Given the description of an element on the screen output the (x, y) to click on. 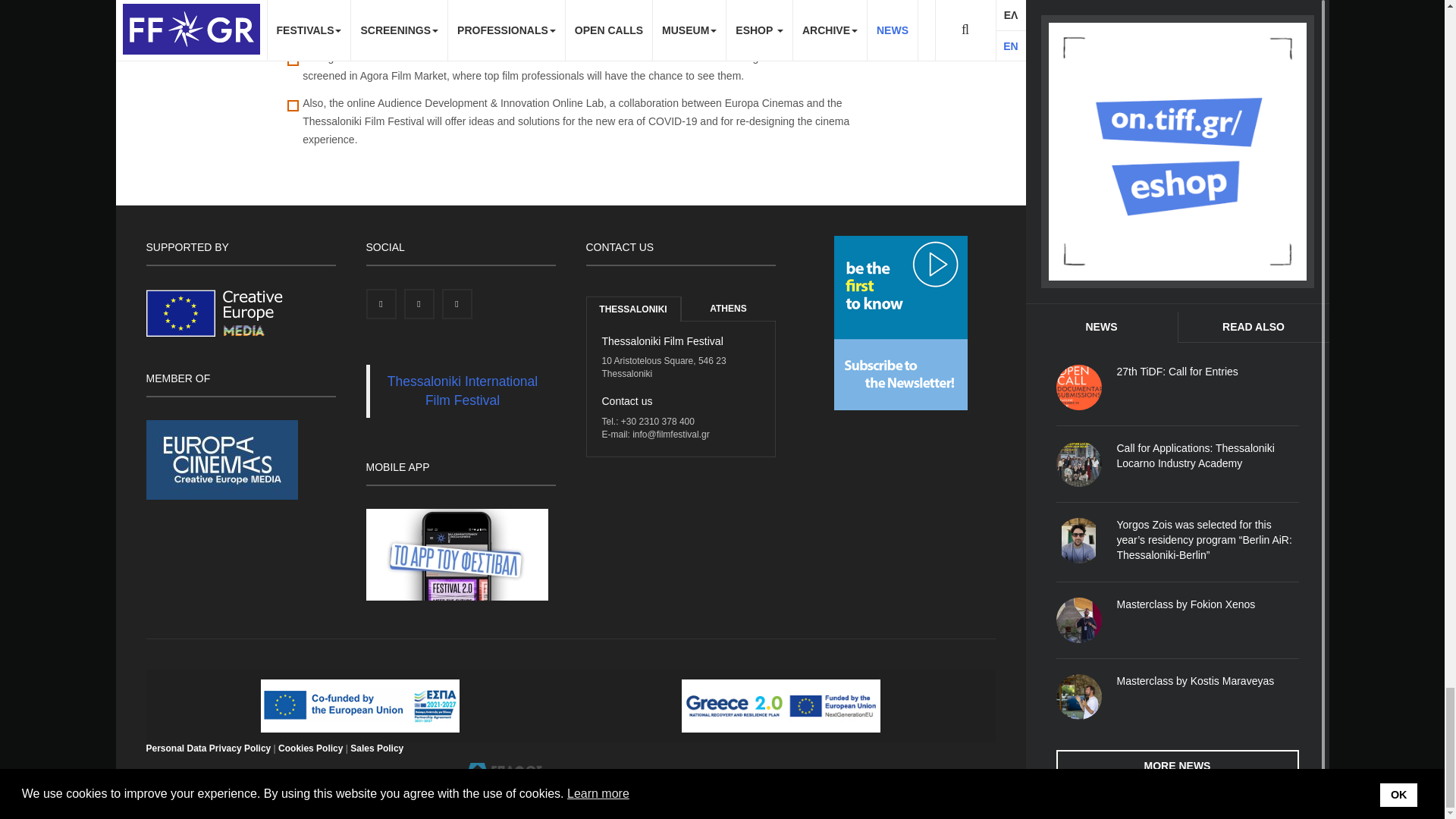
Athens (728, 308)
Subscribe to the Newsletter (901, 321)
Visit EPAFOS IT Systems! (503, 772)
Thessaloniki (632, 309)
